Given the description of an element on the screen output the (x, y) to click on. 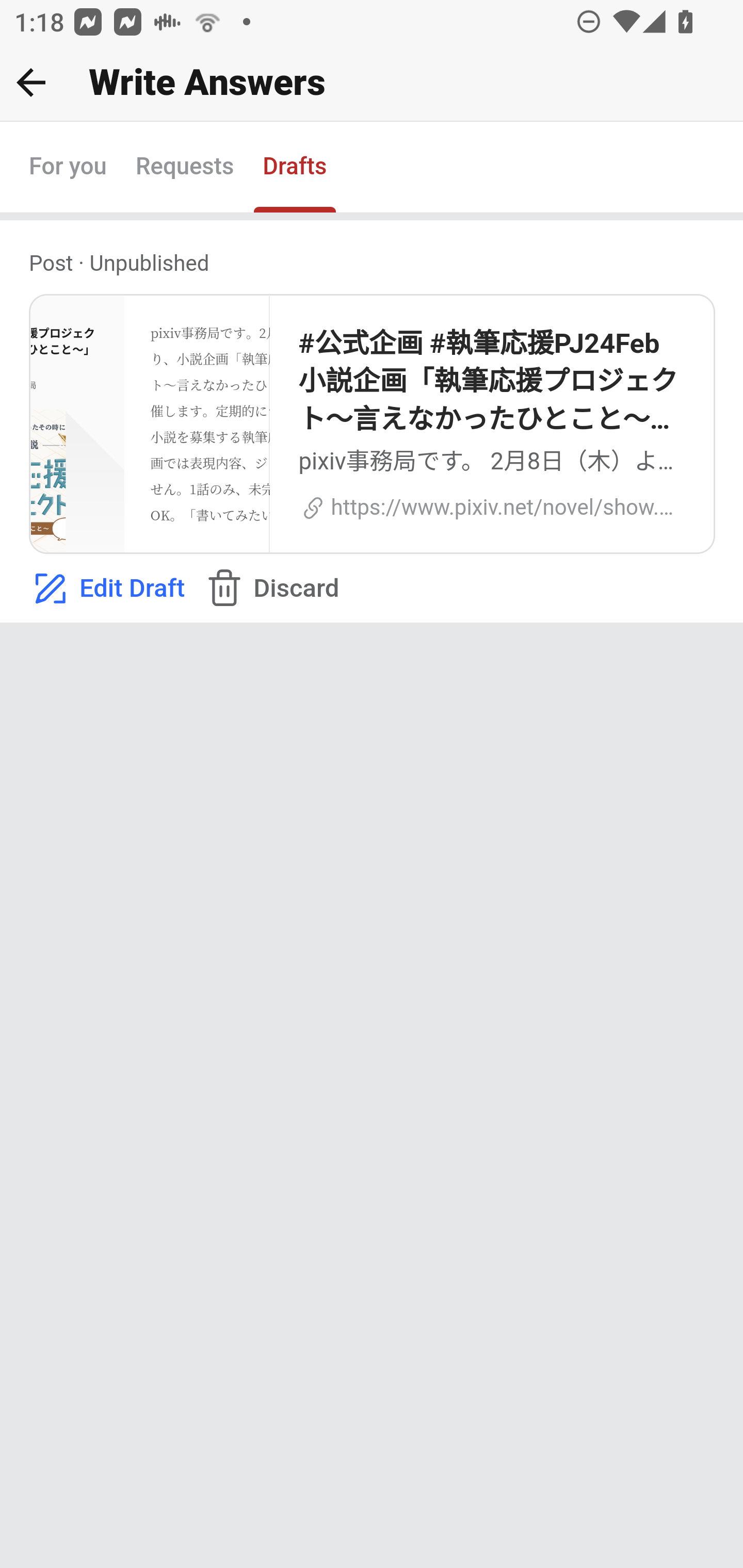
Back (30, 82)
For you (68, 167)
Requests (183, 167)
Drafts (295, 167)
Edit Draft (105, 588)
Discard (270, 588)
